Given the description of an element on the screen output the (x, y) to click on. 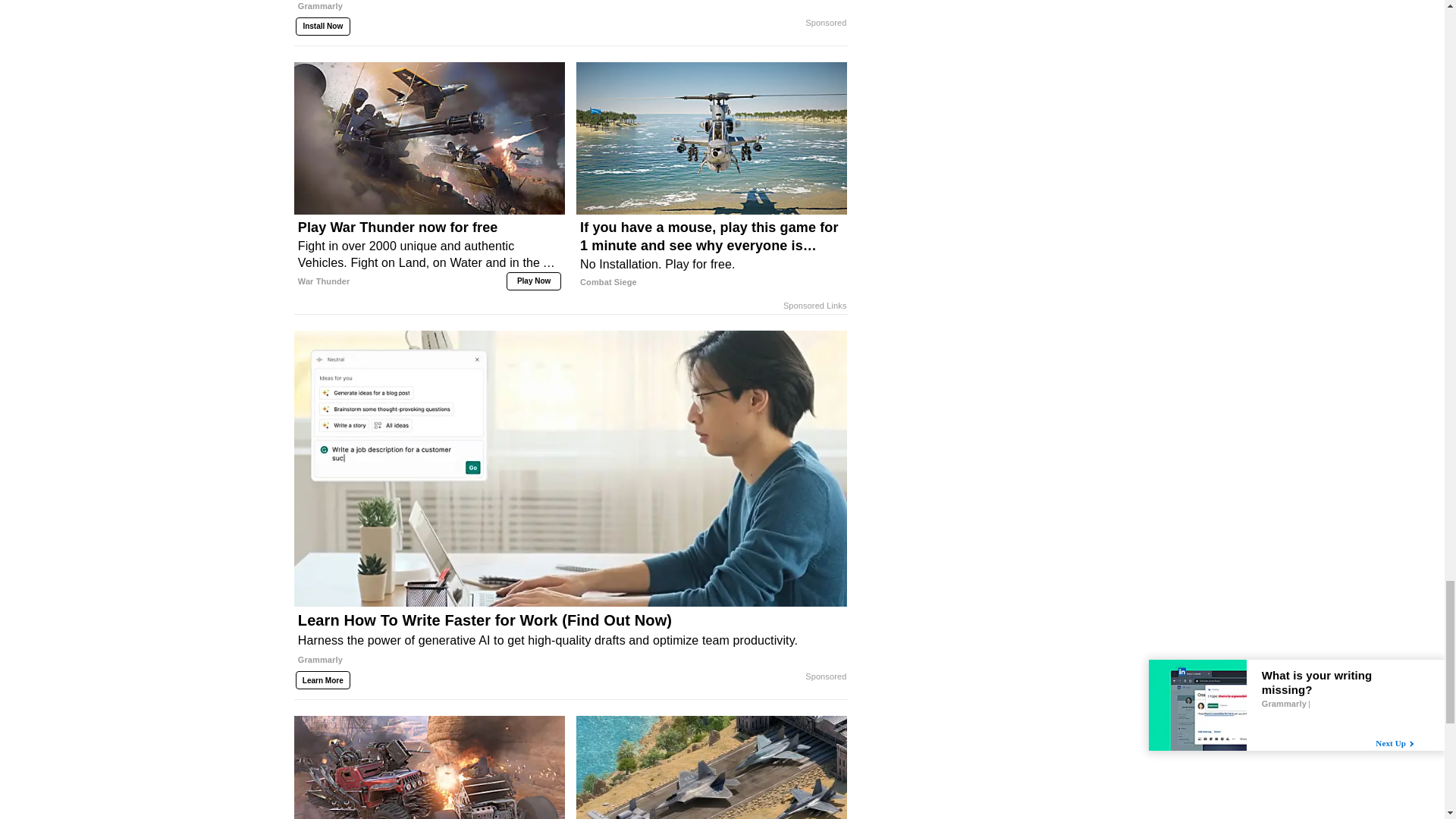
Sponsored Links (815, 306)
What is your writing missing? (570, 13)
Sponsored (825, 23)
Install Now (322, 26)
Play Now (533, 280)
